Given the description of an element on the screen output the (x, y) to click on. 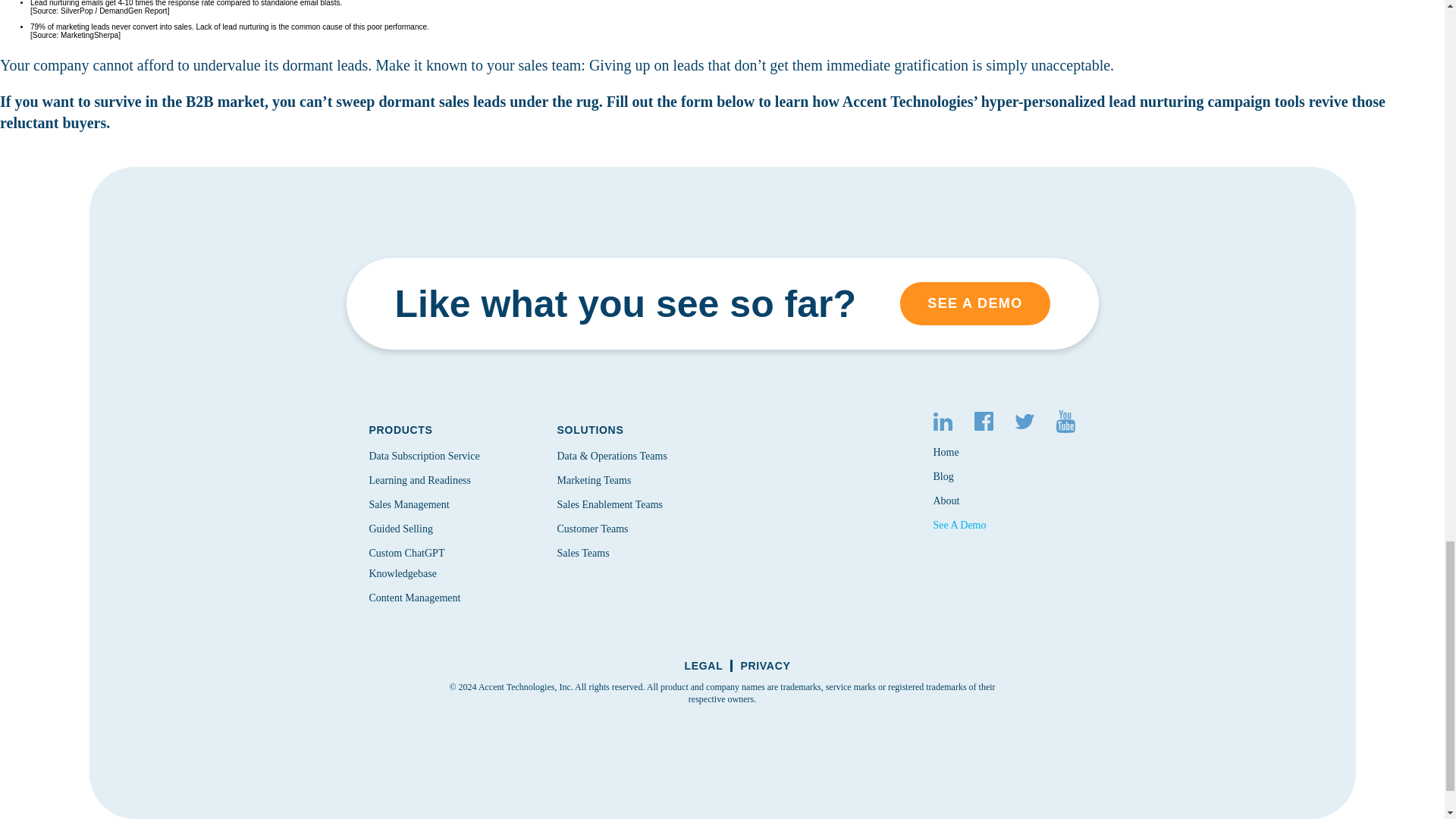
SEE A DEMO (974, 303)
